Given the description of an element on the screen output the (x, y) to click on. 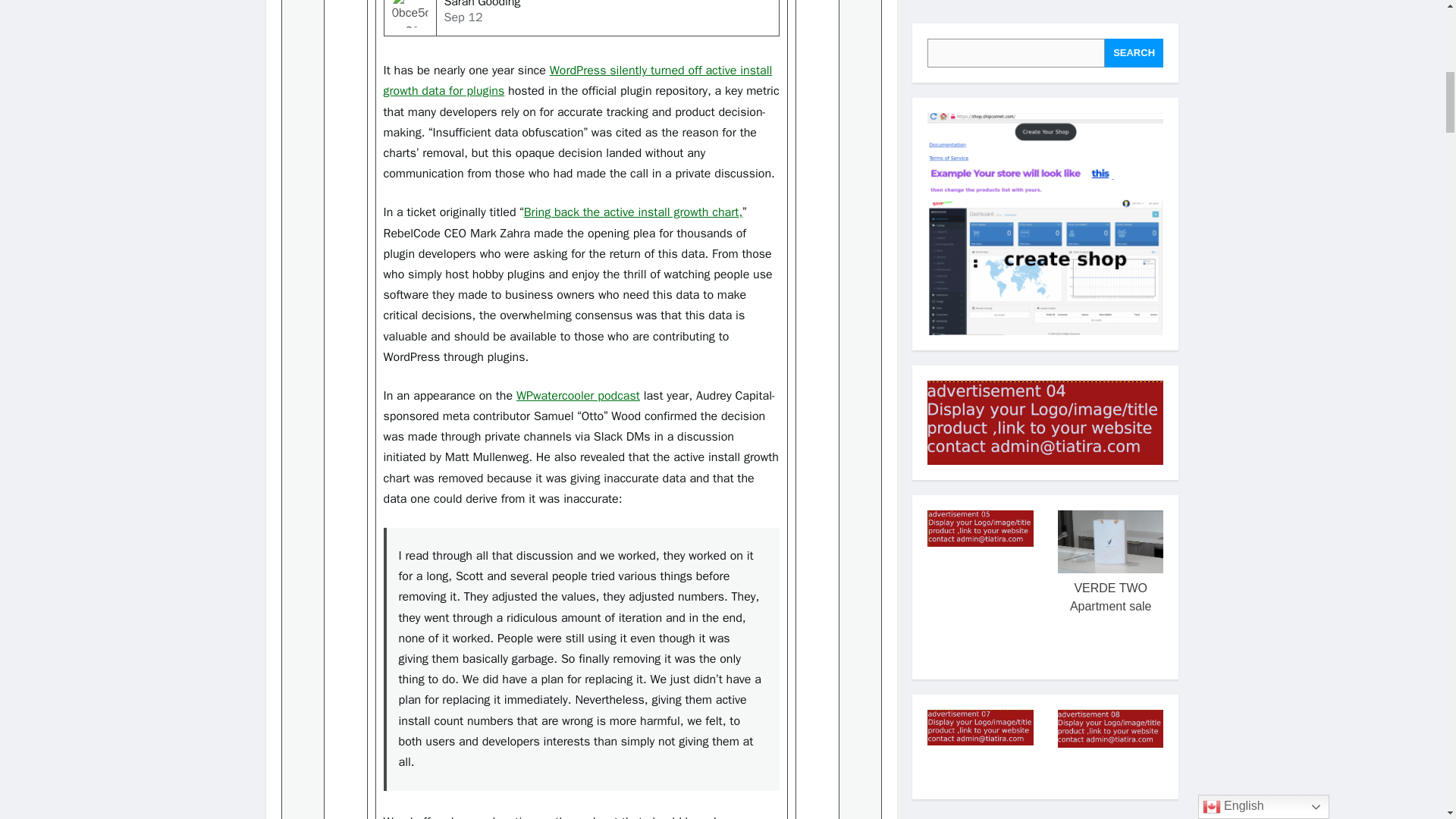
WPwatercooler podcast (578, 395)
Bring back the active install growth chart, (633, 212)
